Given the description of an element on the screen output the (x, y) to click on. 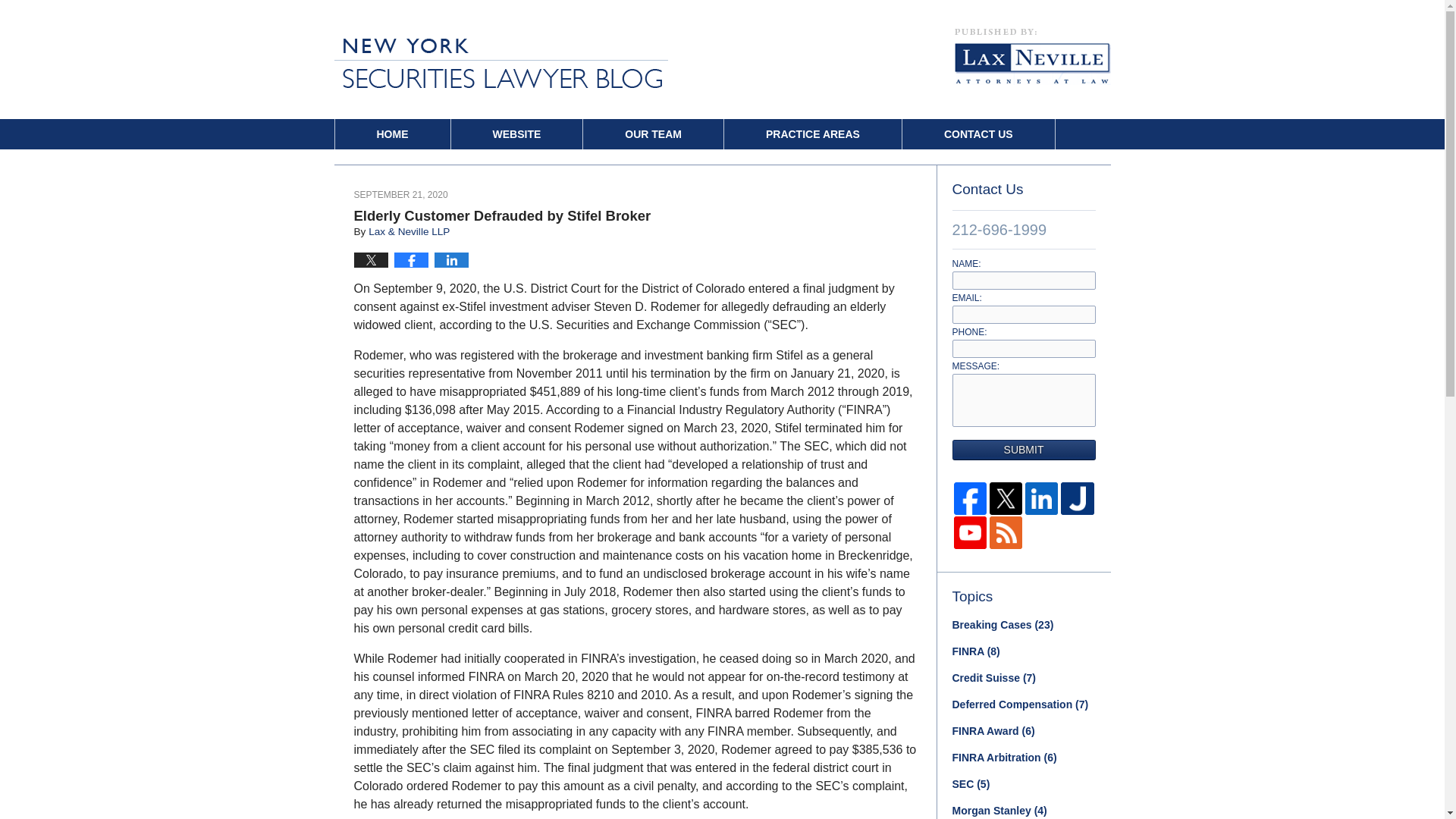
HOME (391, 133)
Justia (1076, 498)
PRACTICE AREAS (812, 133)
New York Securities Lawyer Blog (500, 62)
LinkedIn (1041, 498)
Twitter (1005, 498)
SUBMIT (1024, 449)
YouTube (970, 532)
Facebook (970, 498)
Feed (1005, 532)
WEBSITE (515, 133)
OUR TEAM (653, 133)
Please enter a valid phone number. (1024, 348)
CONTACT US (978, 133)
